Given the description of an element on the screen output the (x, y) to click on. 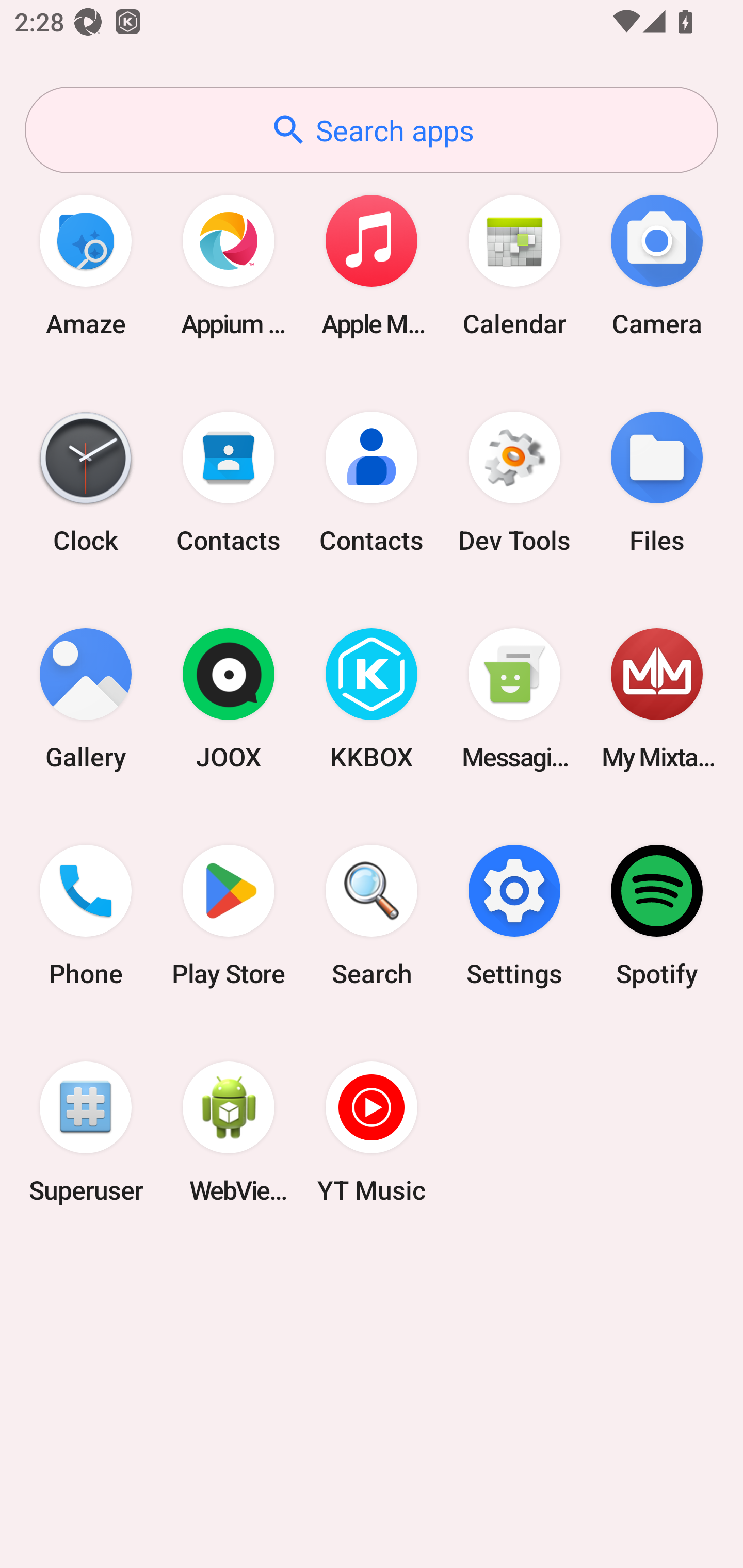
  Search apps (371, 130)
Amaze (85, 264)
Appium Settings (228, 264)
Apple Music (371, 264)
Calendar (514, 264)
Camera (656, 264)
Clock (85, 482)
Contacts (228, 482)
Contacts (371, 482)
Dev Tools (514, 482)
Files (656, 482)
Gallery (85, 699)
JOOX (228, 699)
KKBOX (371, 699)
Messaging (514, 699)
My Mixtapez (656, 699)
Phone (85, 915)
Play Store (228, 915)
Search (371, 915)
Settings (514, 915)
Spotify (656, 915)
Superuser (85, 1131)
WebView Browser Tester (228, 1131)
YT Music (371, 1131)
